Given the description of an element on the screen output the (x, y) to click on. 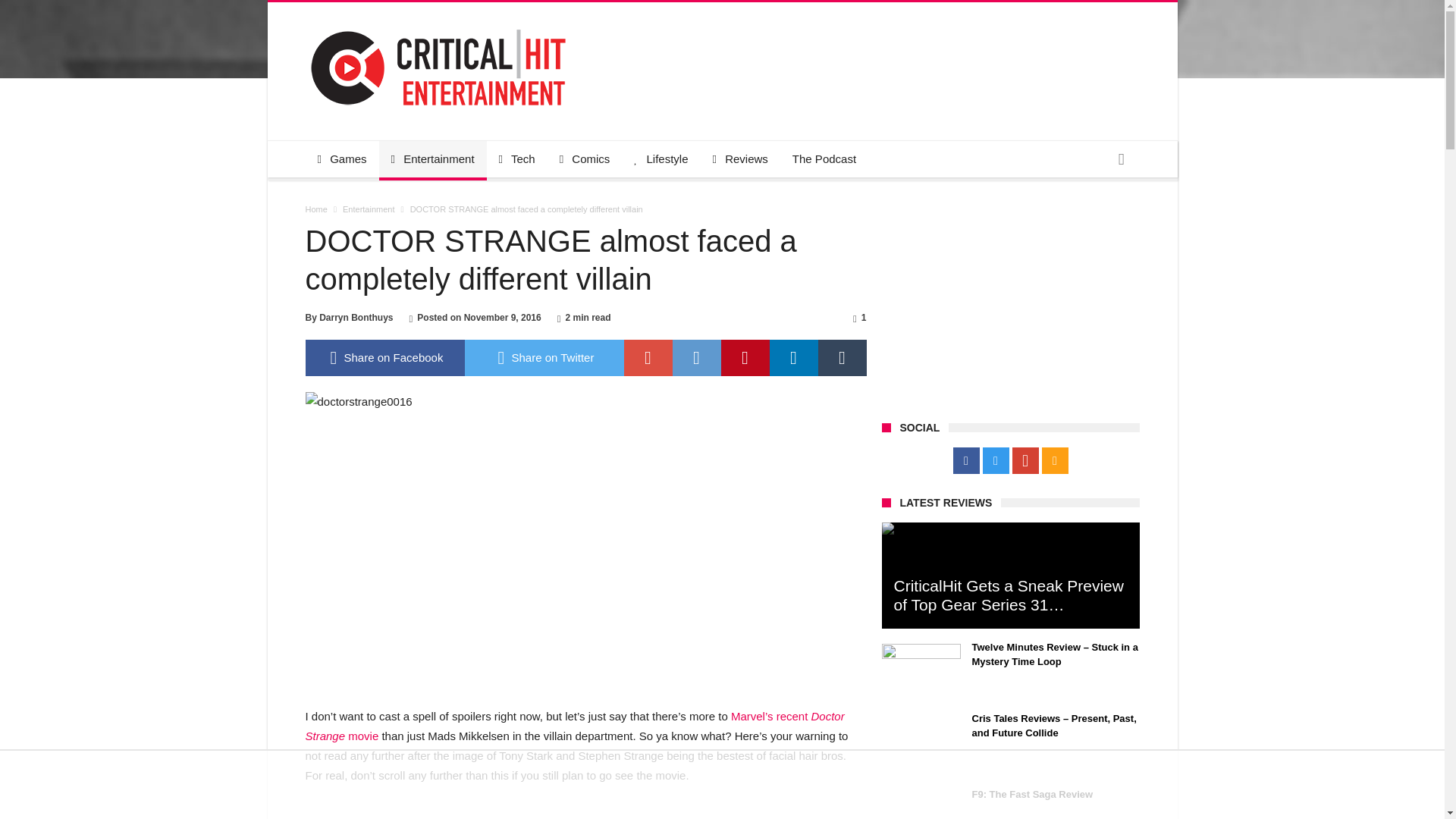
Share on Pinterest (744, 357)
google (647, 357)
facebook (384, 357)
Reviews (740, 158)
Lifestyle (660, 158)
Home (315, 208)
Share on Reddit (695, 357)
Share on Facebook (384, 357)
reddit (695, 357)
Entertainment (368, 208)
